Given the description of an element on the screen output the (x, y) to click on. 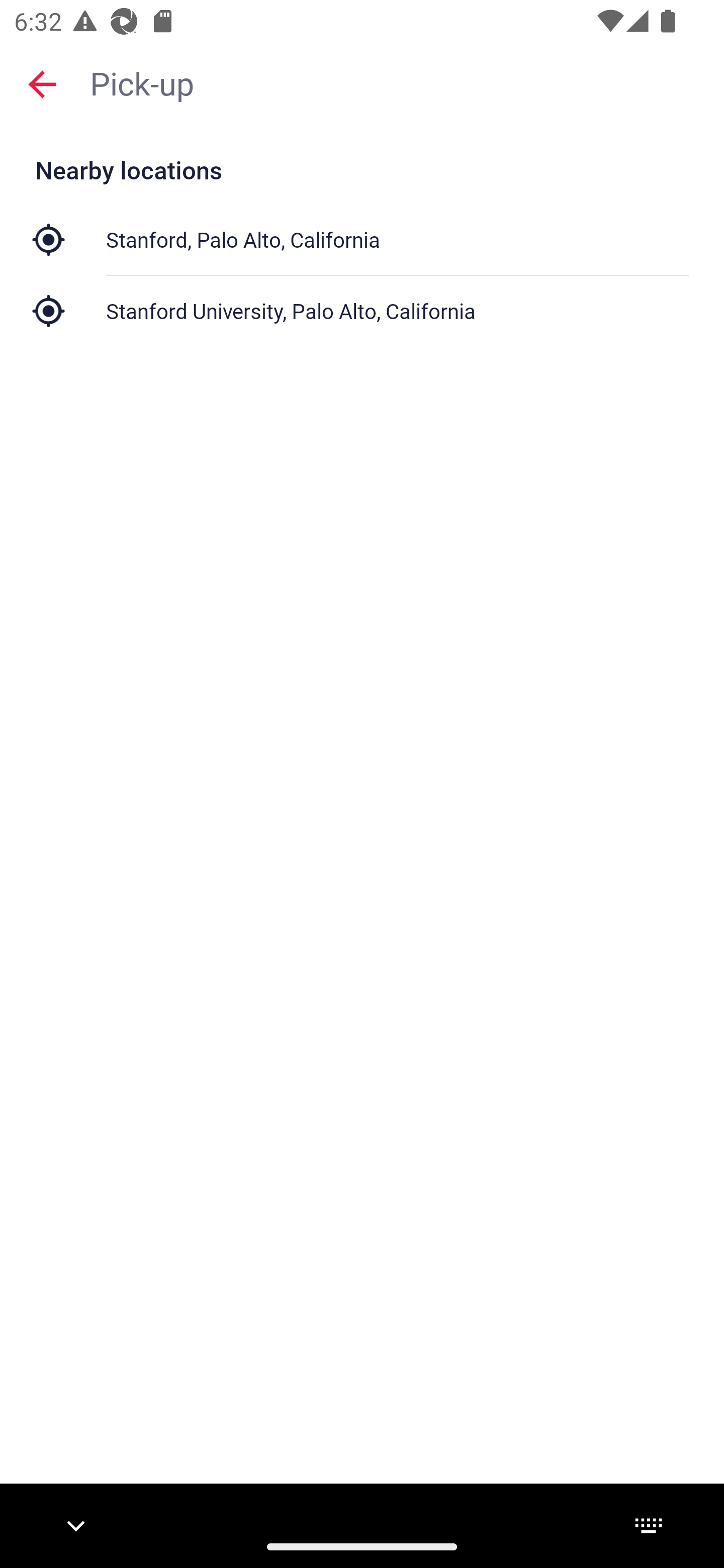
Pick-up,  (397, 82)
Close search screen (41, 83)
